Given the description of an element on the screen output the (x, y) to click on. 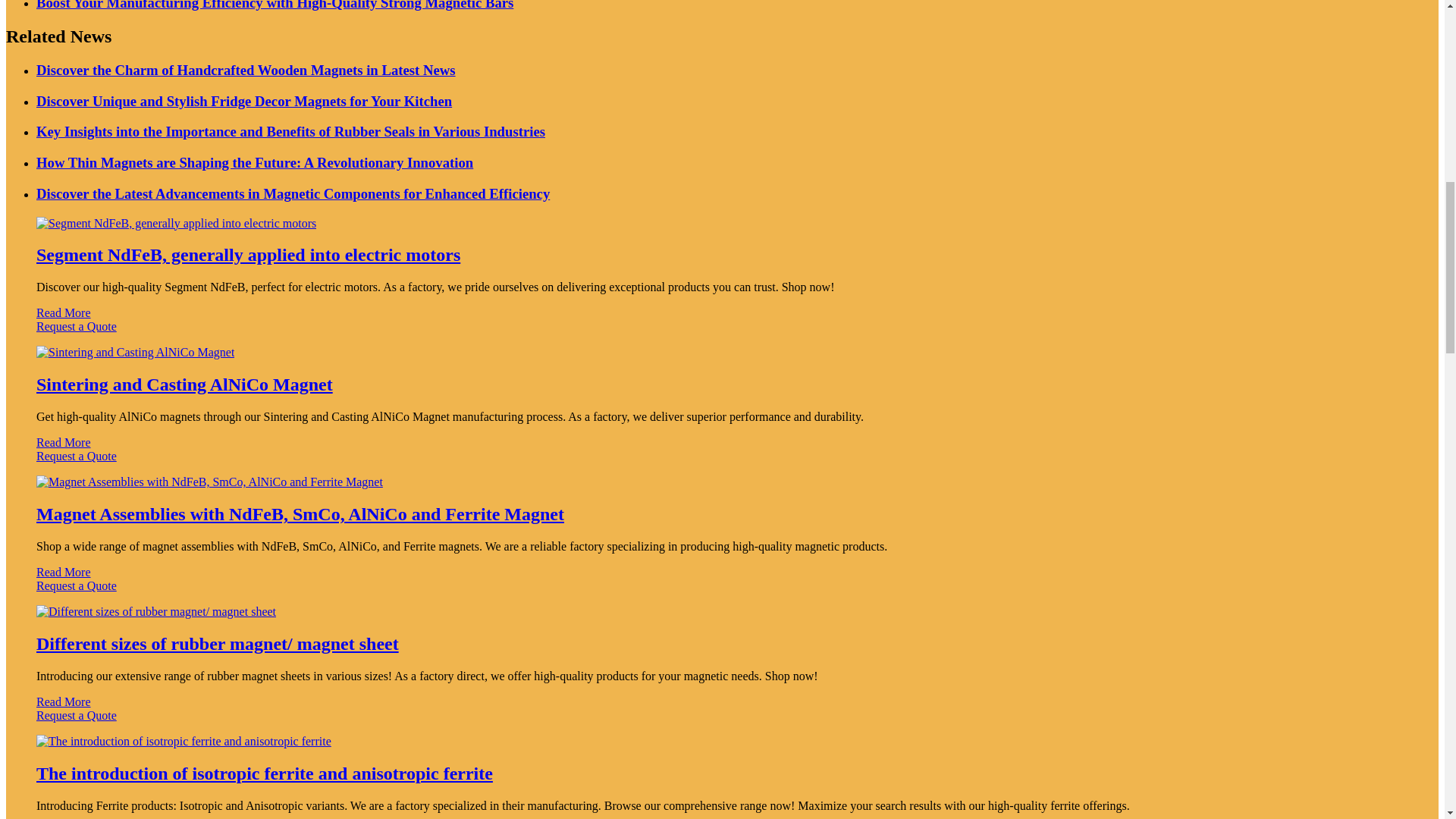
Read More (63, 312)
Request a Quote (721, 592)
Request a Quote (721, 333)
Read More (63, 571)
Segment NdFeB, generally applied into electric motors (248, 254)
Sintering and Casting AlNiCo Magnet (184, 383)
Request a Quote (721, 462)
Read More (63, 441)
